Given the description of an element on the screen output the (x, y) to click on. 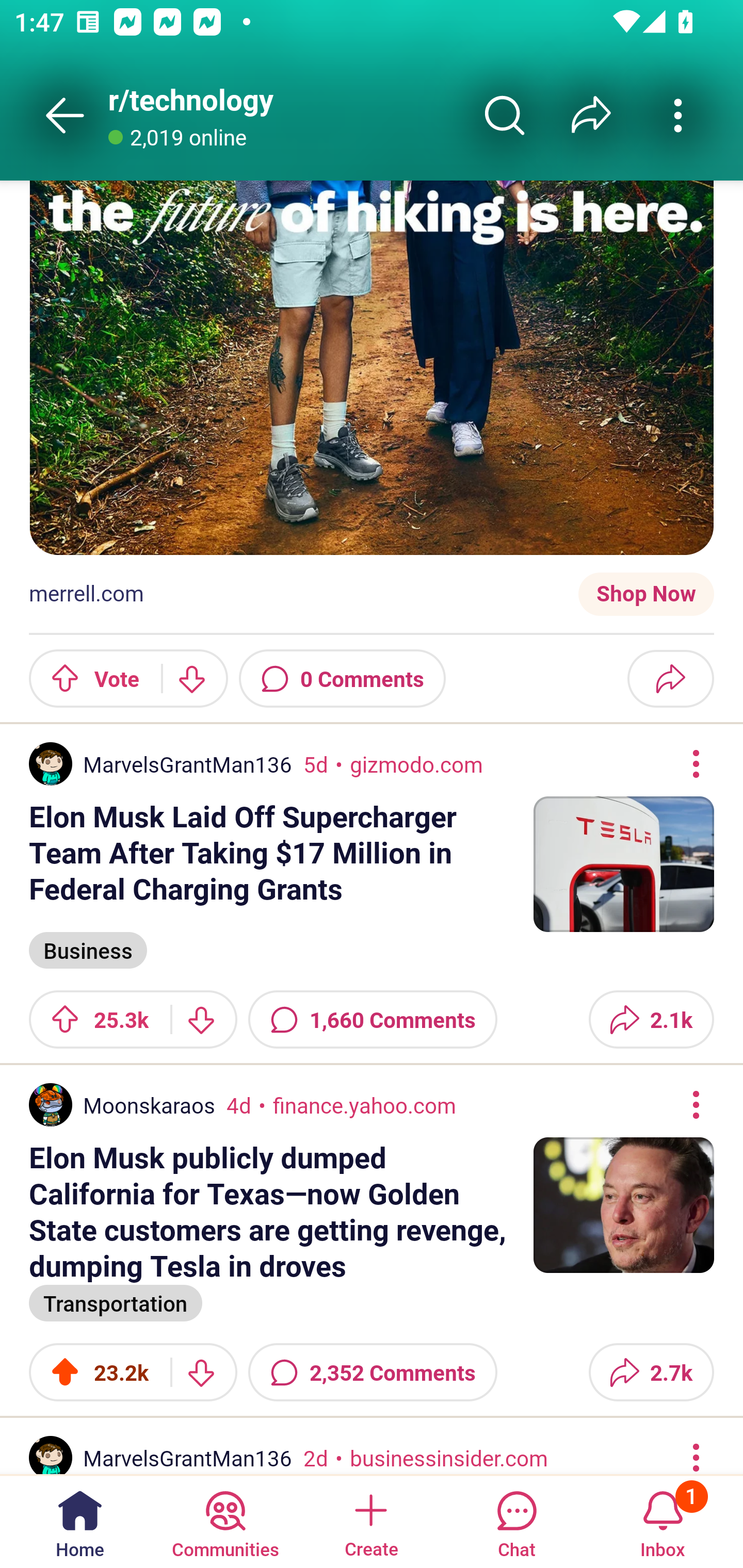
Back (64, 115)
Search r/﻿technology (504, 115)
Share r/﻿technology (591, 115)
More community actions (677, 115)
Business (87, 948)
Transportation (115, 1301)
Home (80, 1520)
Communities (225, 1520)
Create a post Create (370, 1520)
Chat (516, 1520)
Inbox, has 1 notification 1 Inbox (662, 1520)
